Given the description of an element on the screen output the (x, y) to click on. 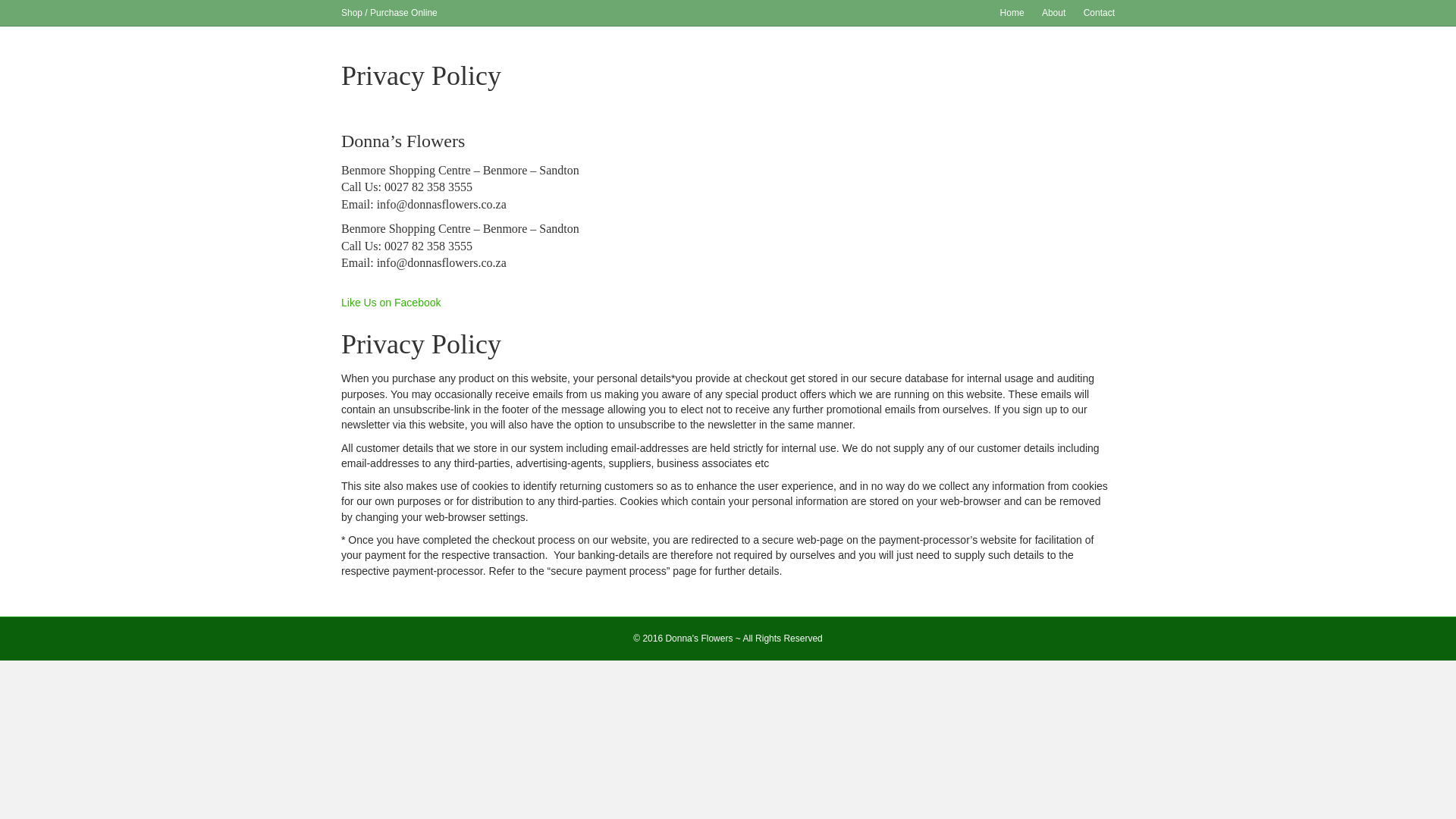
About (1053, 13)
Like Us on Facebook (390, 309)
Contact (1098, 13)
Home (1012, 13)
